Given the description of an element on the screen output the (x, y) to click on. 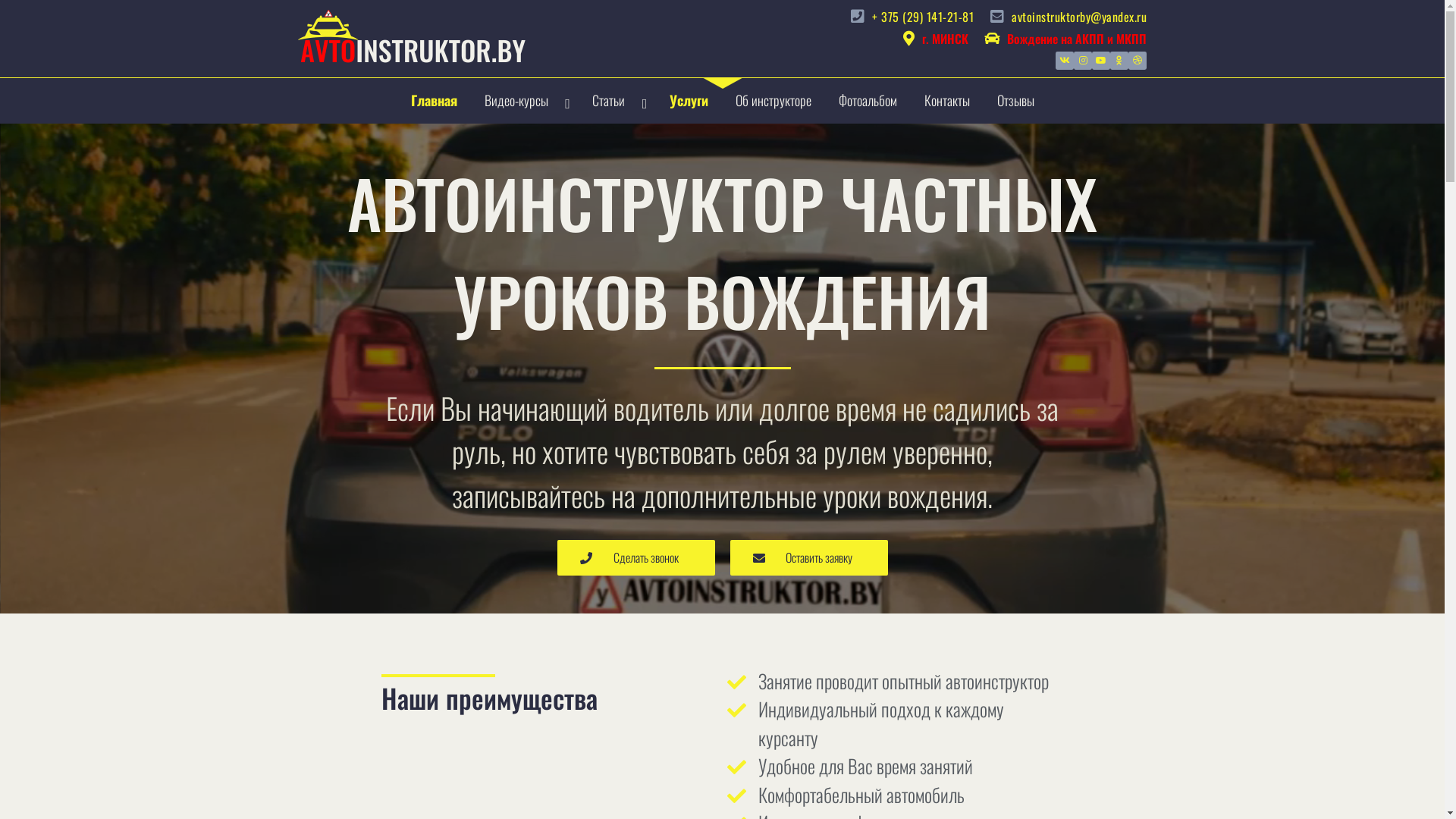
Sticky menu Element type: hover (410, 35)
+ 375 (29) 141-21-81 Element type: text (909, 16)
avtoinstruktorby@yandex.ru Element type: text (1065, 16)
